Given the description of an element on the screen output the (x, y) to click on. 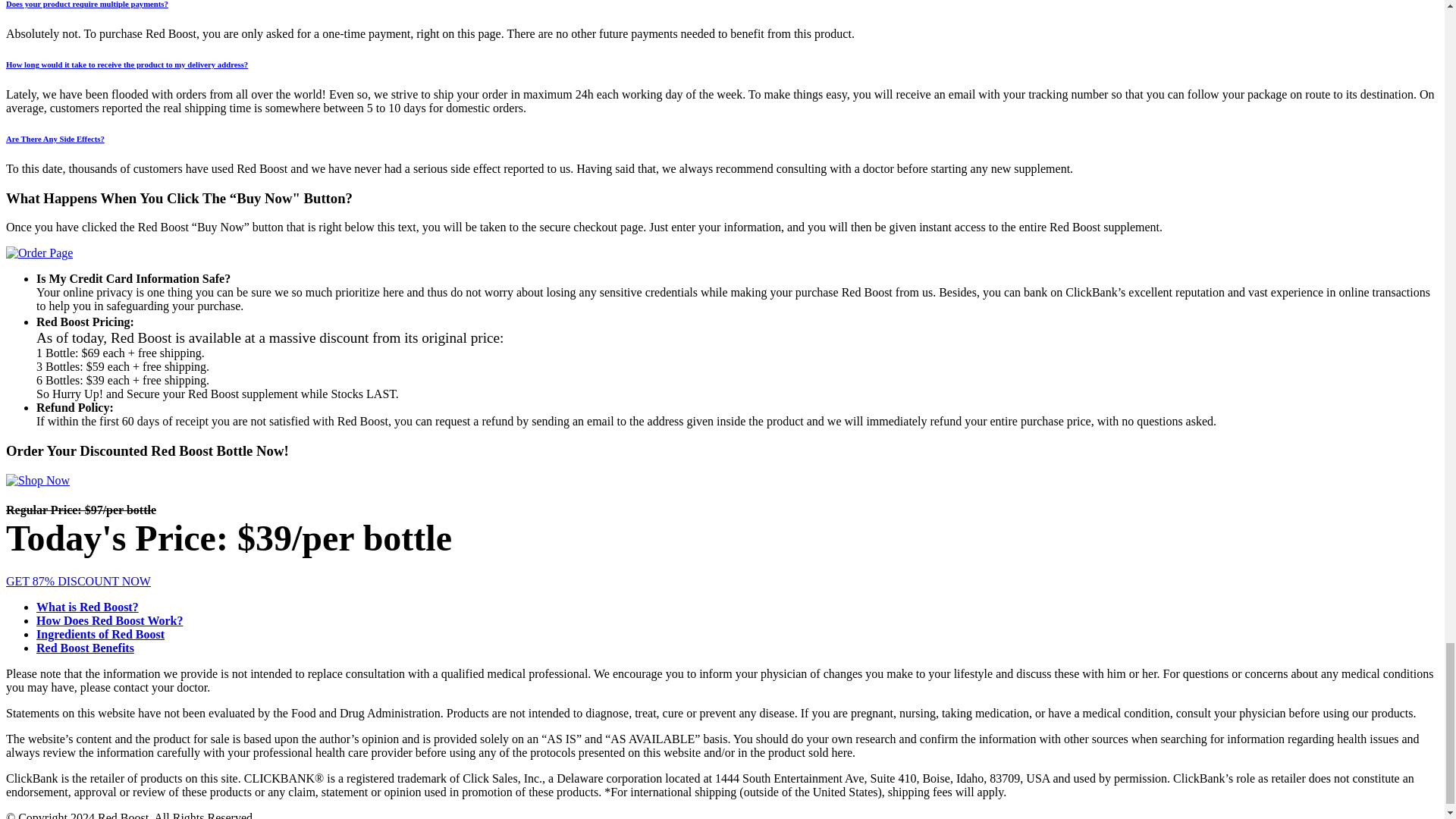
Red Boost Benefits (84, 647)
Ingredients of Red Boost (100, 634)
What is Red Boost? (87, 606)
How Does Red Boost Work? (109, 620)
